Given the description of an element on the screen output the (x, y) to click on. 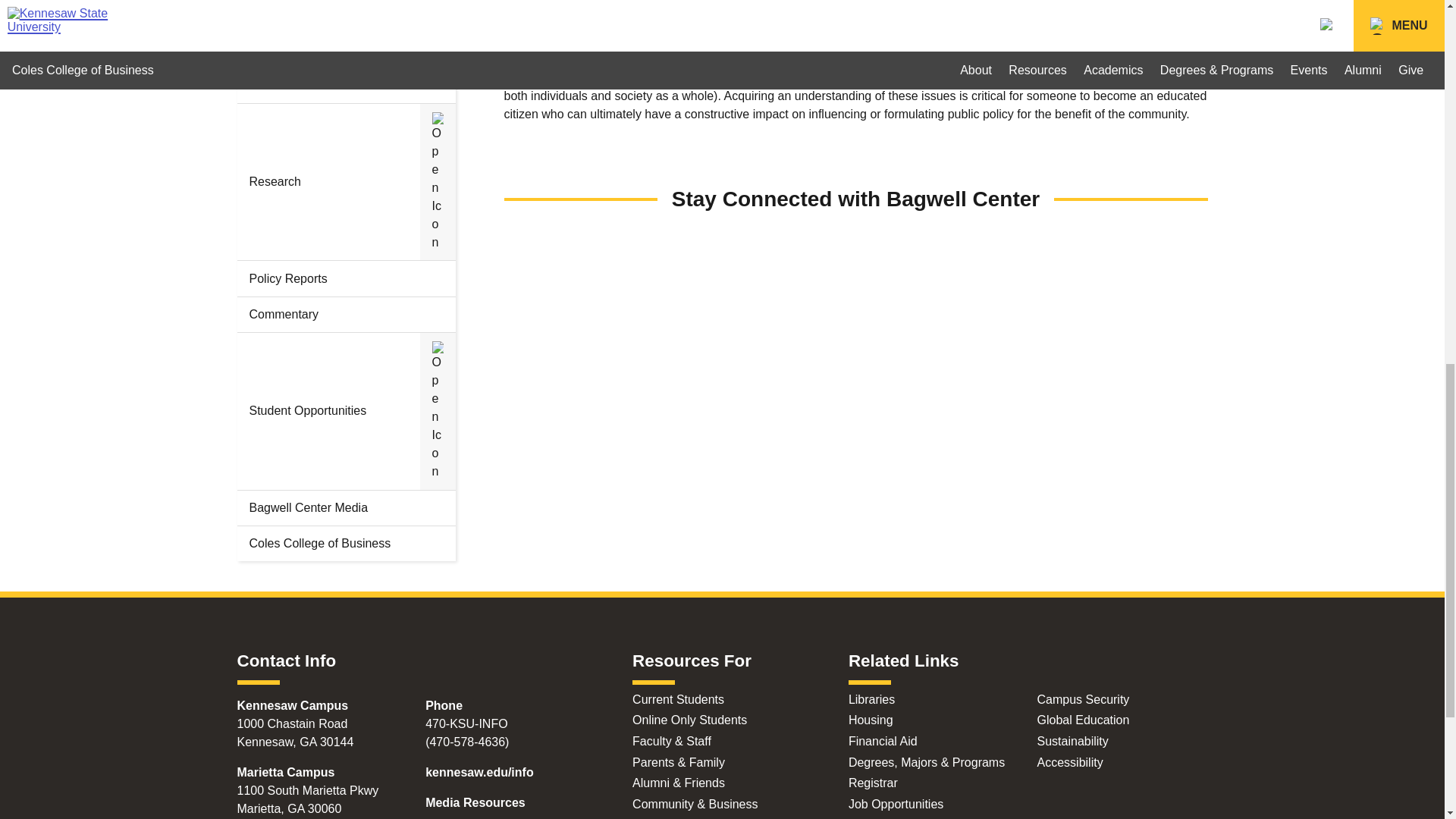
Twitter (1091, 250)
Facebook (619, 250)
Instagram (855, 250)
